Given the description of an element on the screen output the (x, y) to click on. 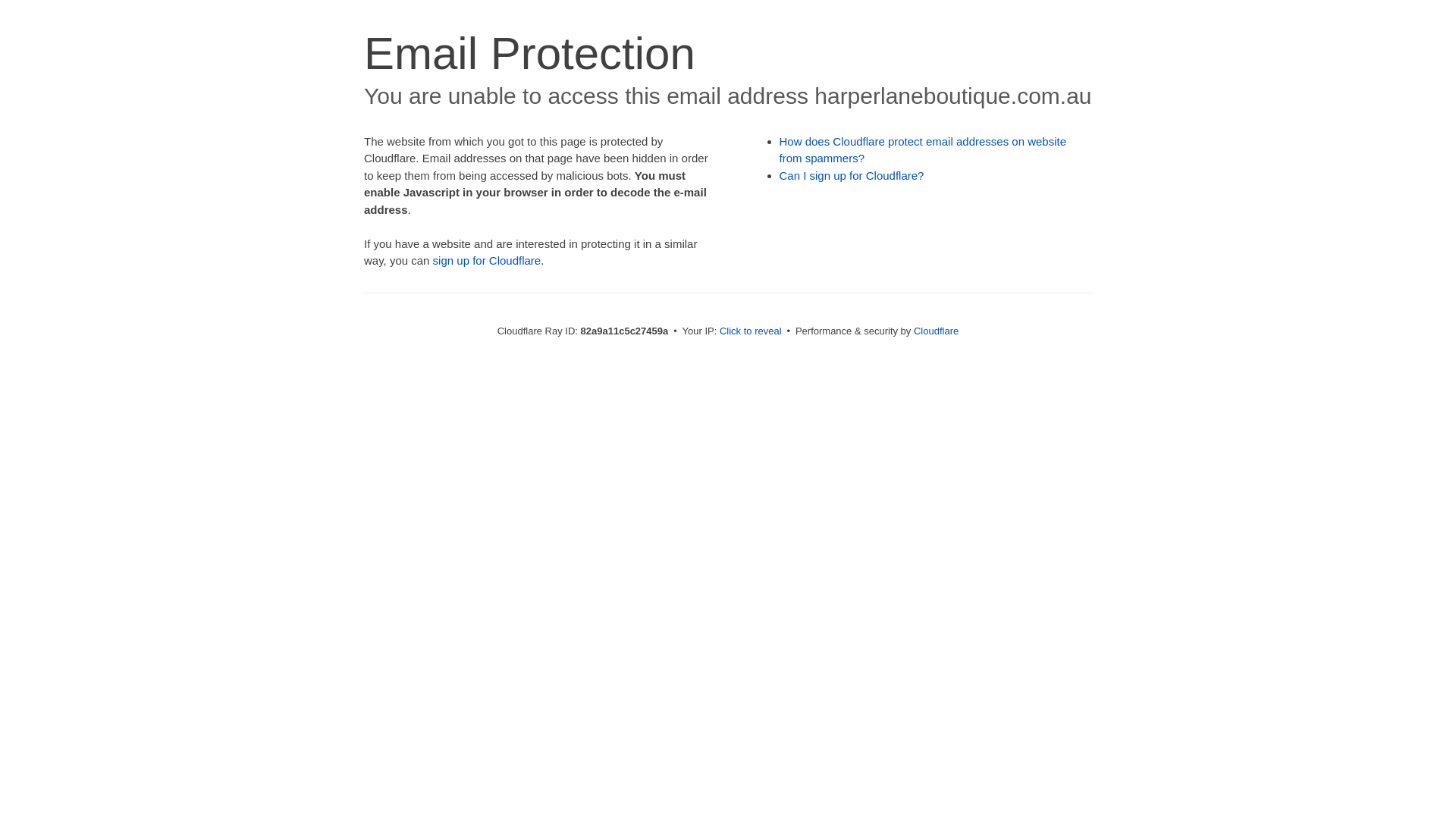
Can I sign up for Cloudflare? Element type: text (851, 175)
Click to reveal Element type: text (750, 330)
sign up for Cloudflare Element type: text (487, 260)
Cloudflare Element type: text (935, 330)
